Given the description of an element on the screen output the (x, y) to click on. 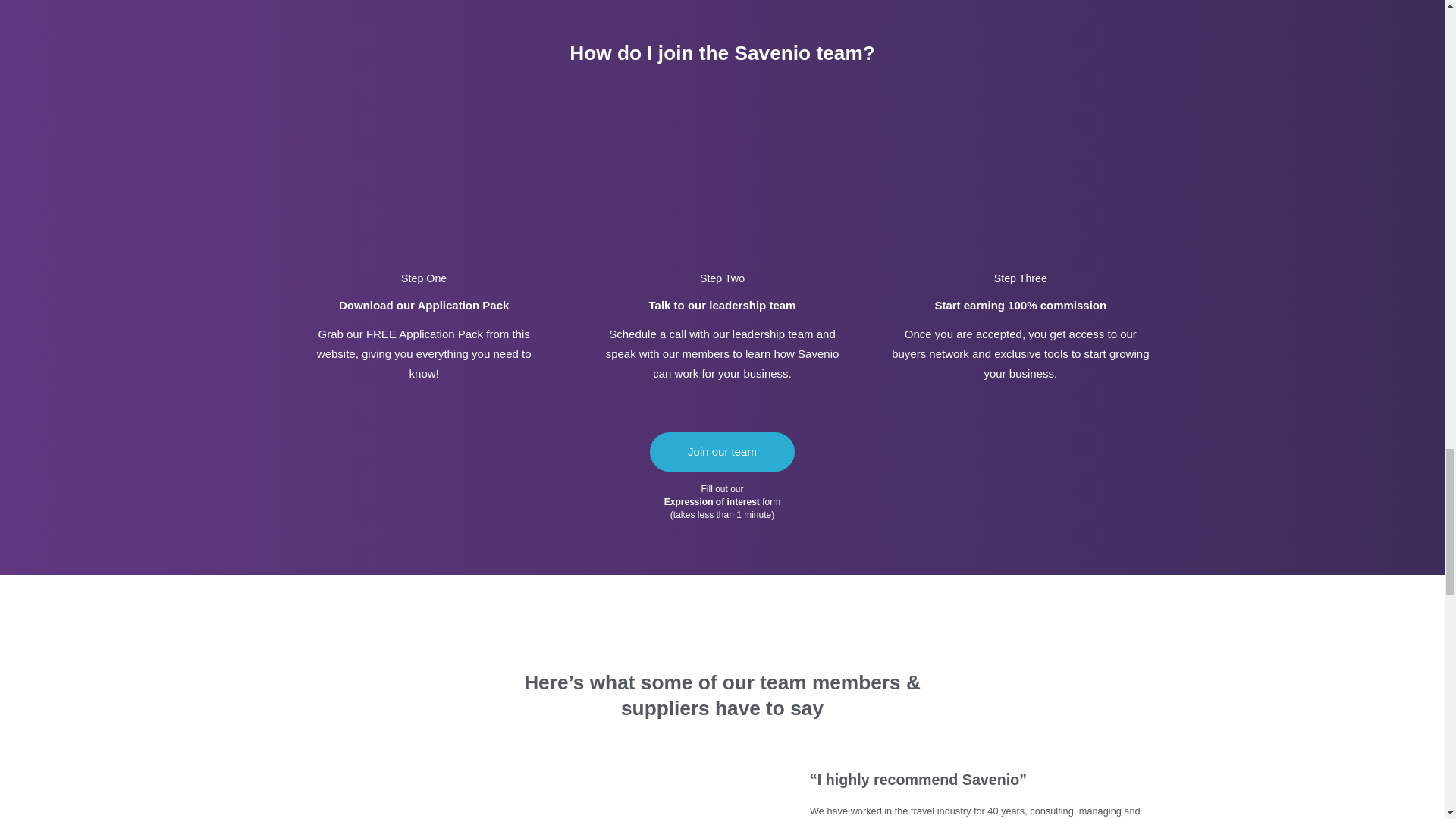
Join our team (721, 451)
